Given the description of an element on the screen output the (x, y) to click on. 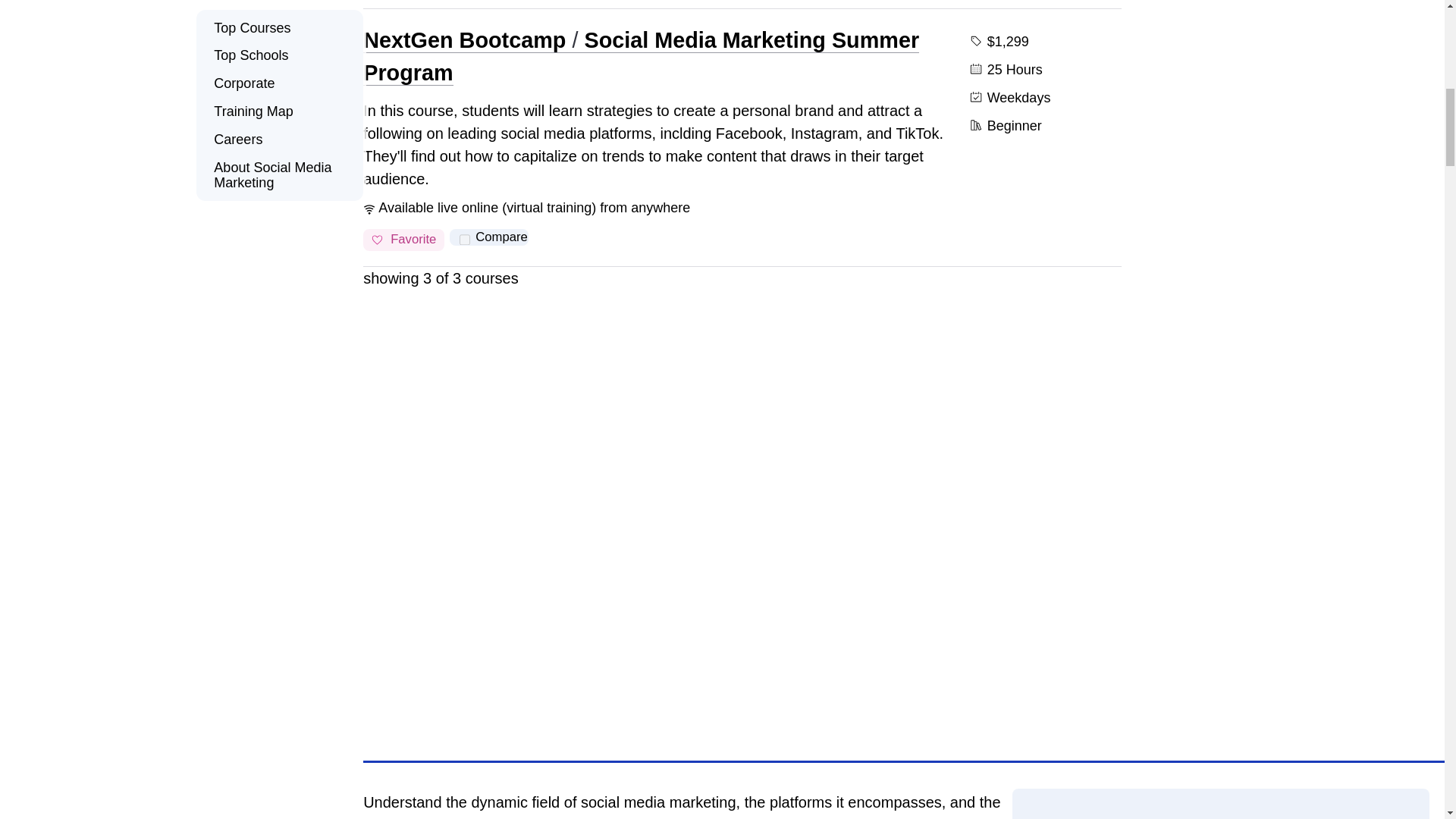
4665 (464, 239)
